Given the description of an element on the screen output the (x, y) to click on. 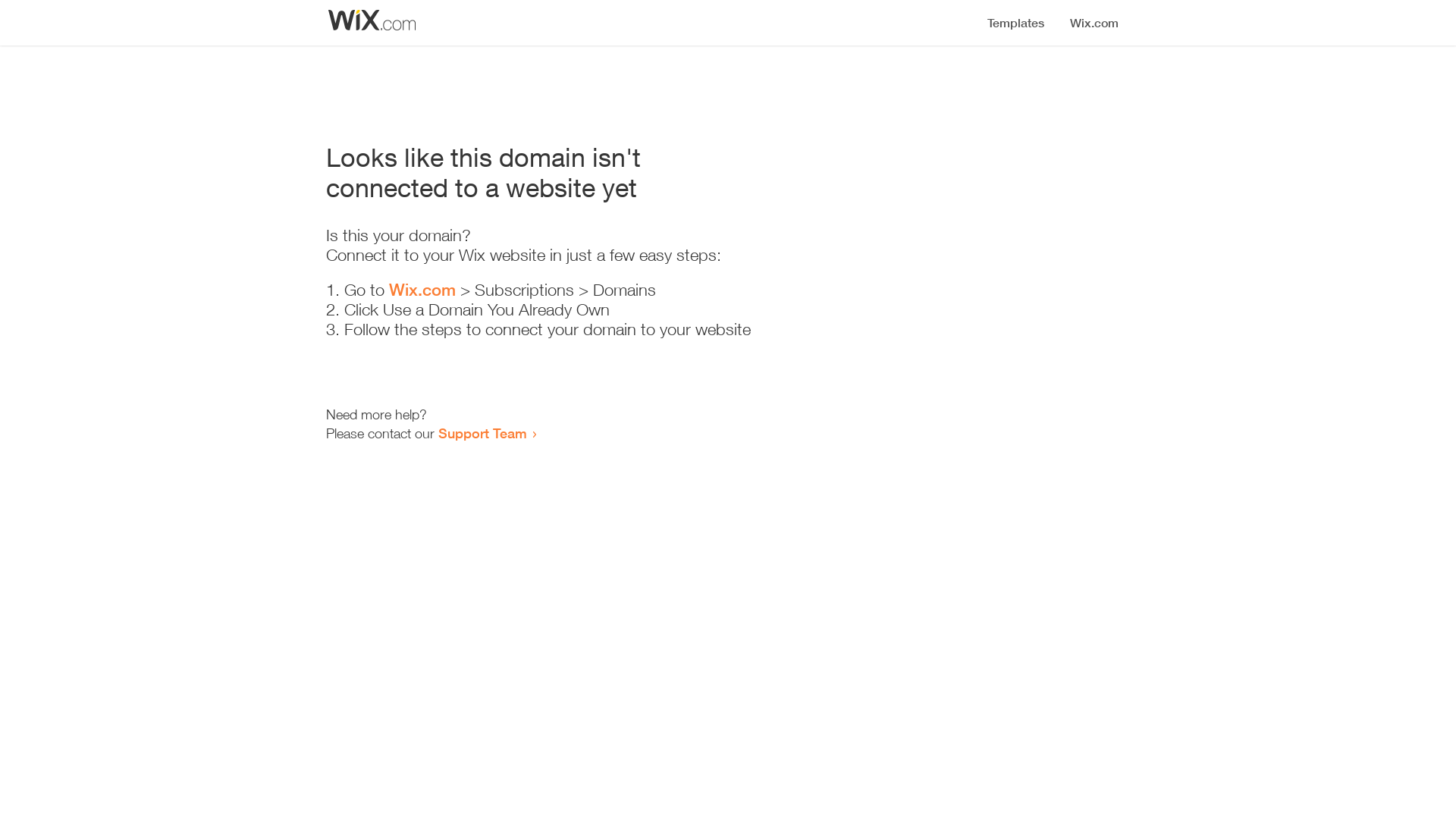
Support Team Element type: text (482, 432)
Wix.com Element type: text (422, 289)
